Given the description of an element on the screen output the (x, y) to click on. 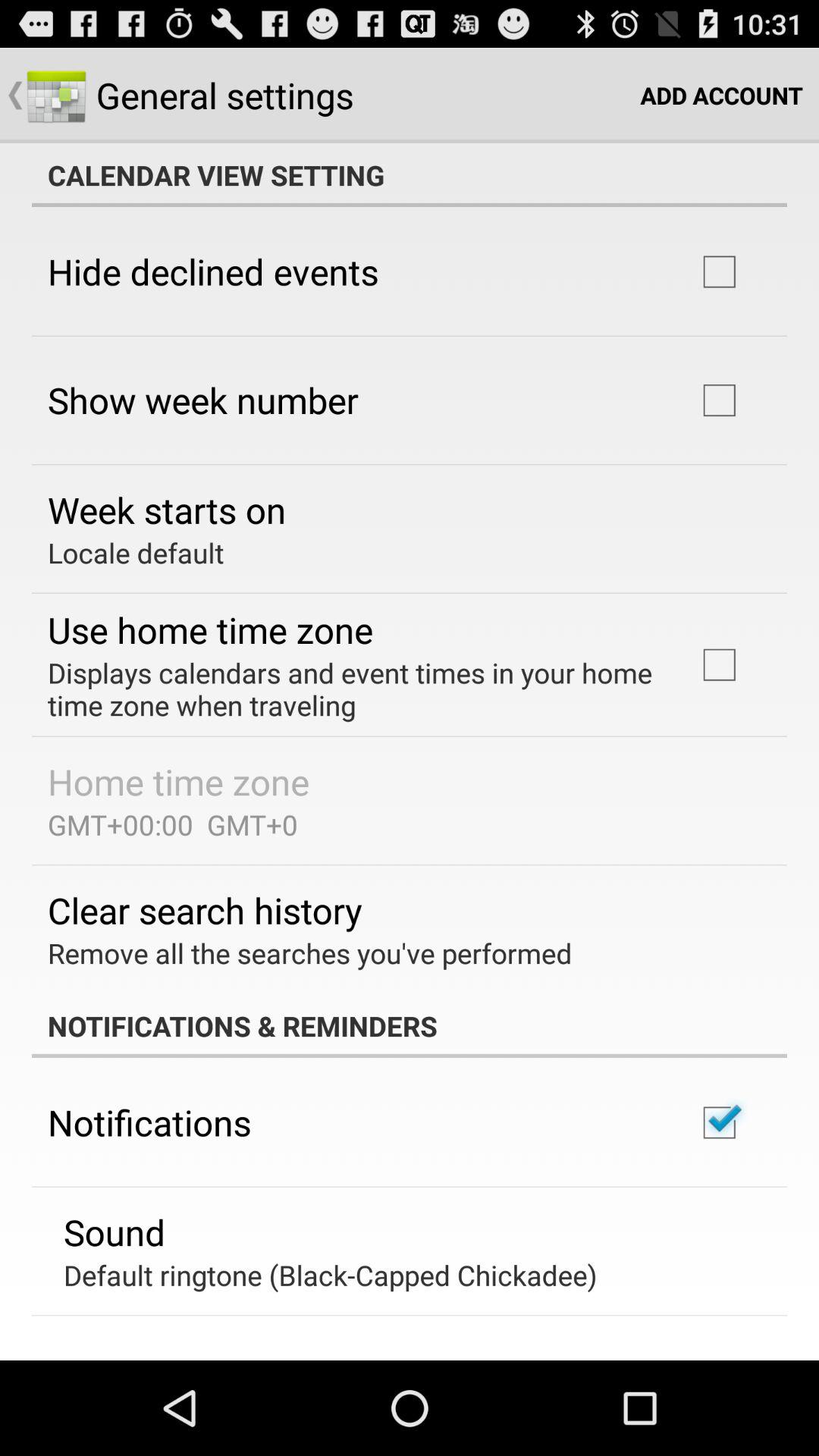
scroll until the locale default (135, 552)
